Given the description of an element on the screen output the (x, y) to click on. 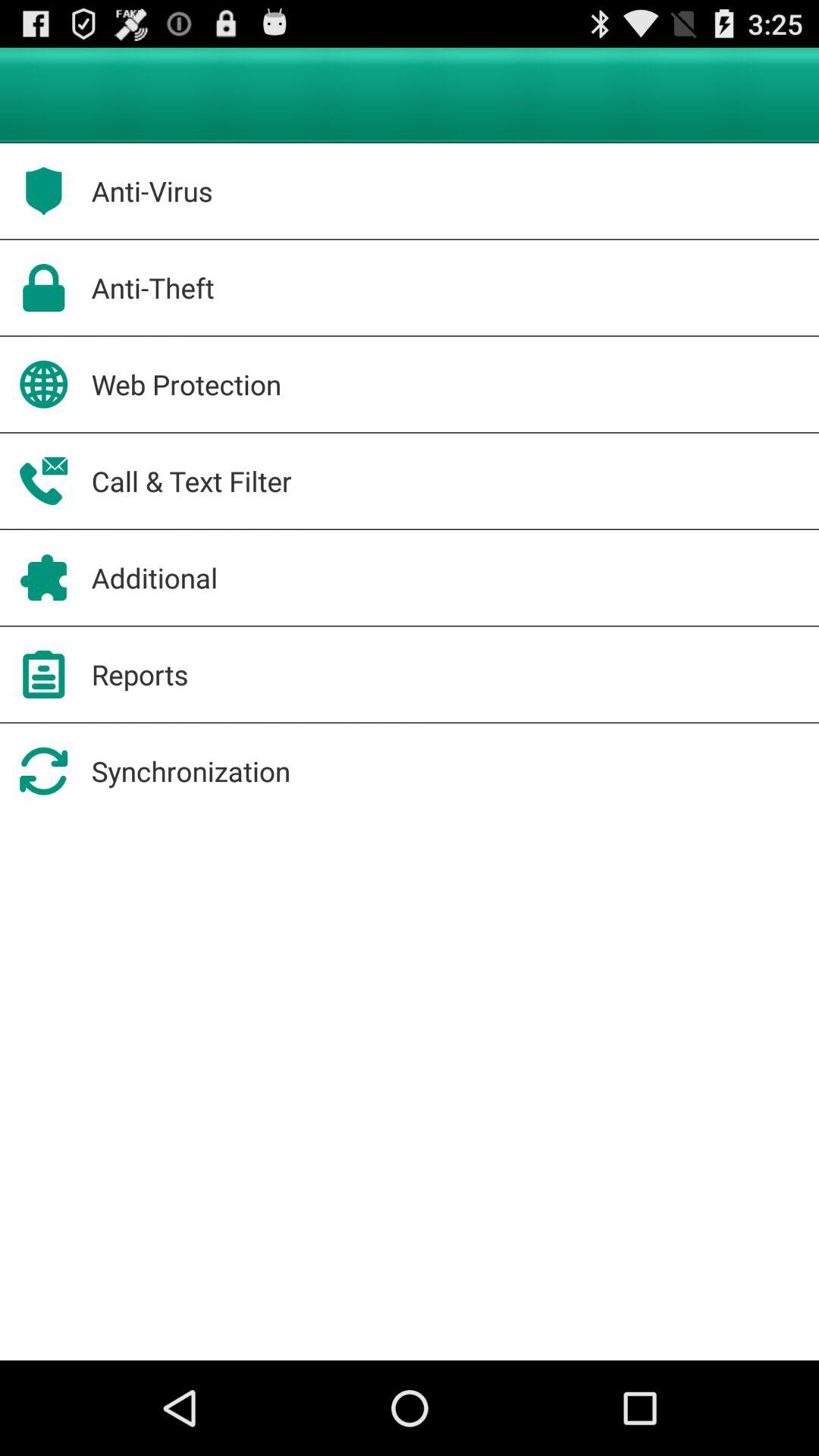
turn on the synchronization (190, 770)
